Given the description of an element on the screen output the (x, y) to click on. 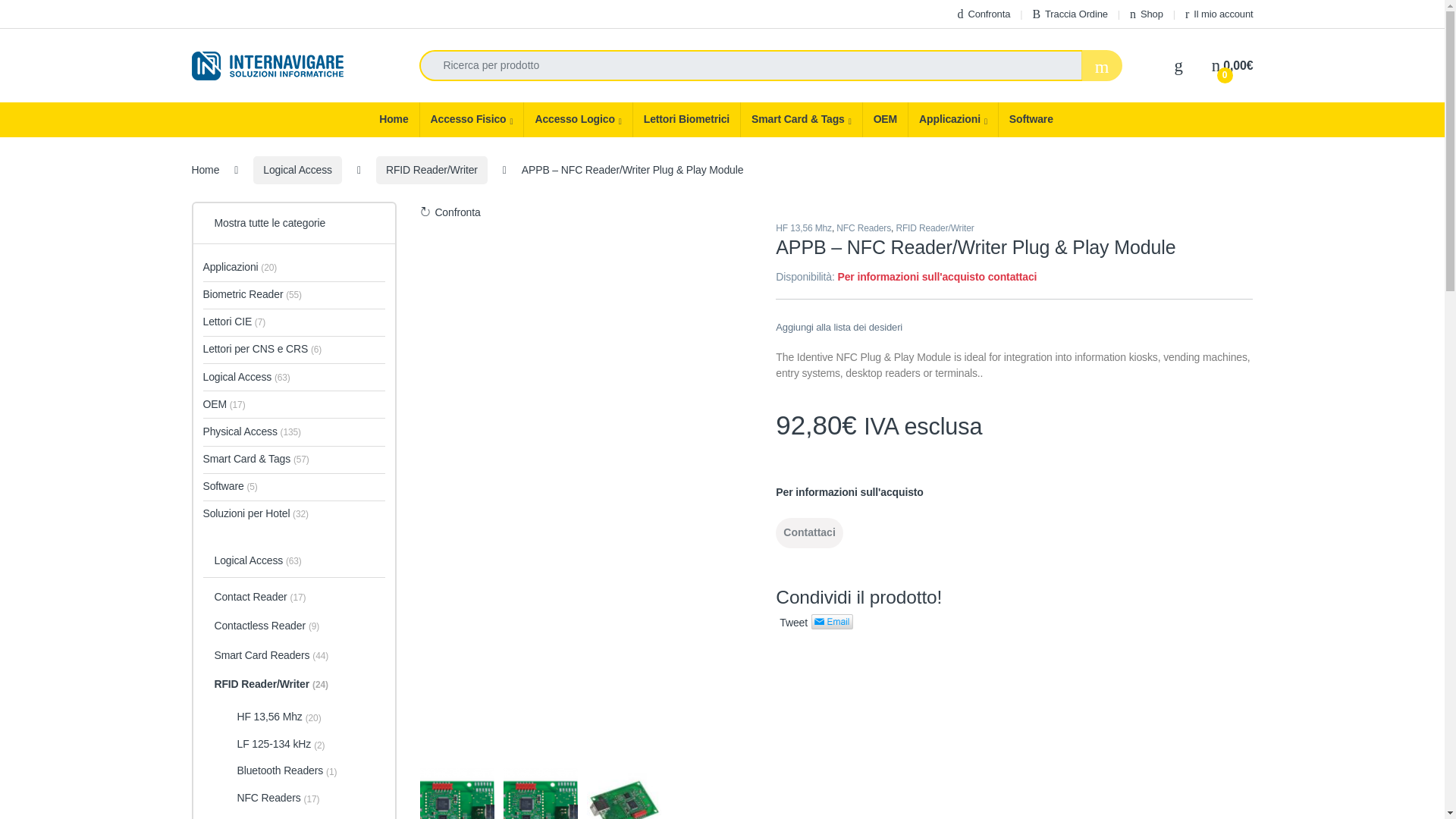
Traccia Ordine (1070, 13)
Il mio account (1218, 13)
Confronta (984, 13)
Shop (1146, 13)
Traccia Ordine (1070, 13)
Contattaci (809, 532)
Shop (1146, 13)
Il mio account (1218, 13)
